Given the description of an element on the screen output the (x, y) to click on. 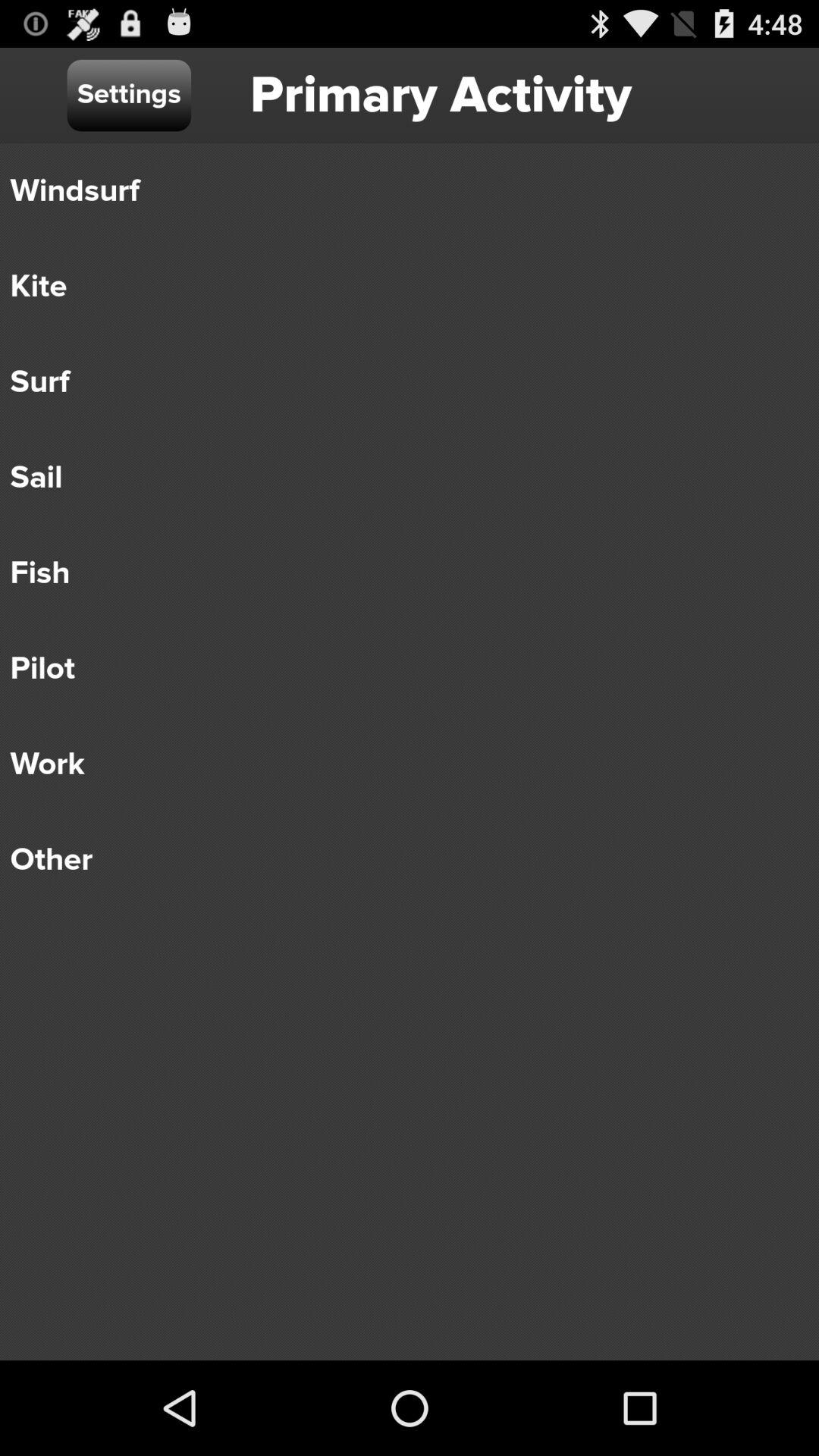
select icon to the left of primary activity item (129, 95)
